Given the description of an element on the screen output the (x, y) to click on. 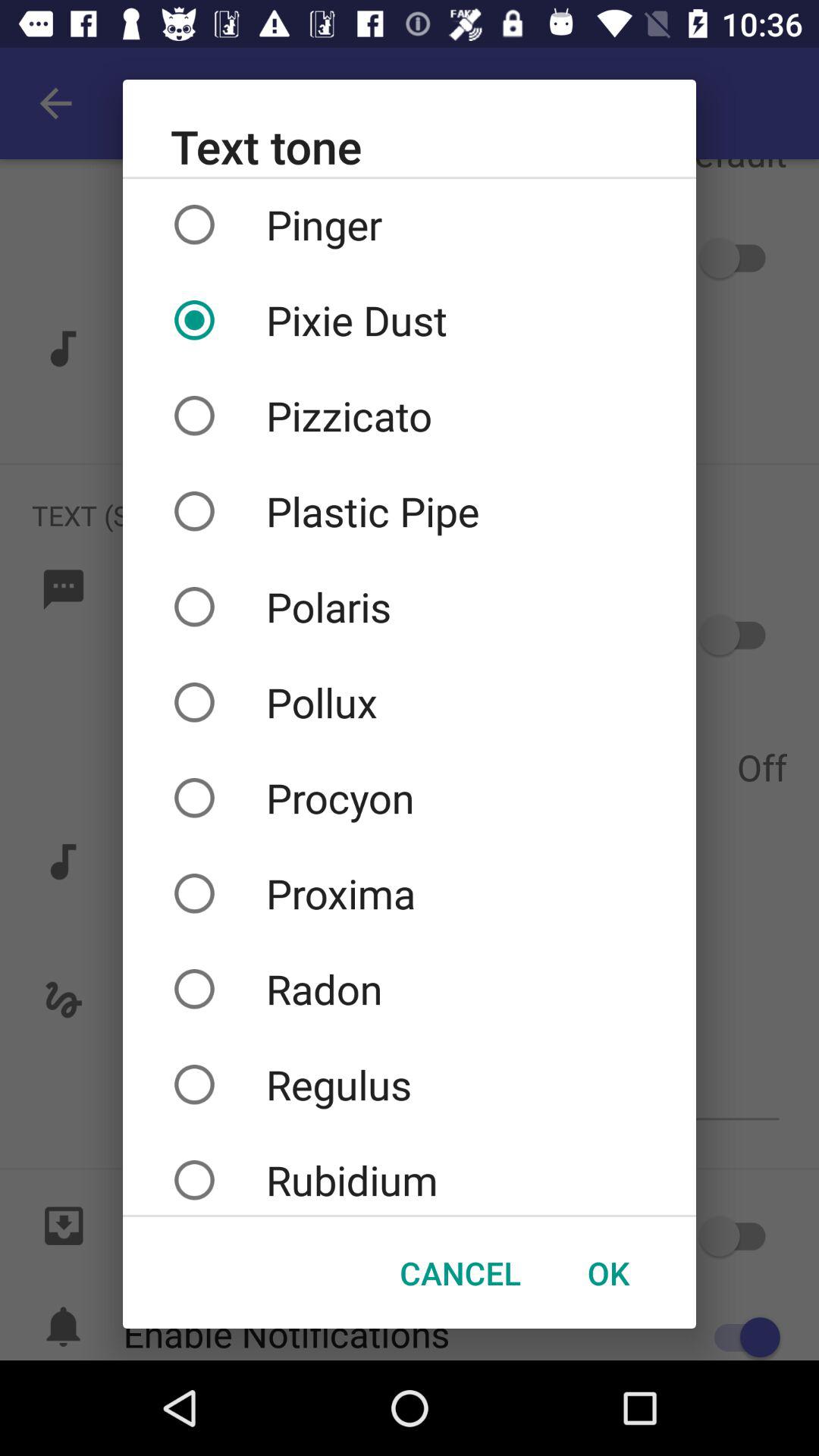
scroll until ok icon (608, 1272)
